Given the description of an element on the screen output the (x, y) to click on. 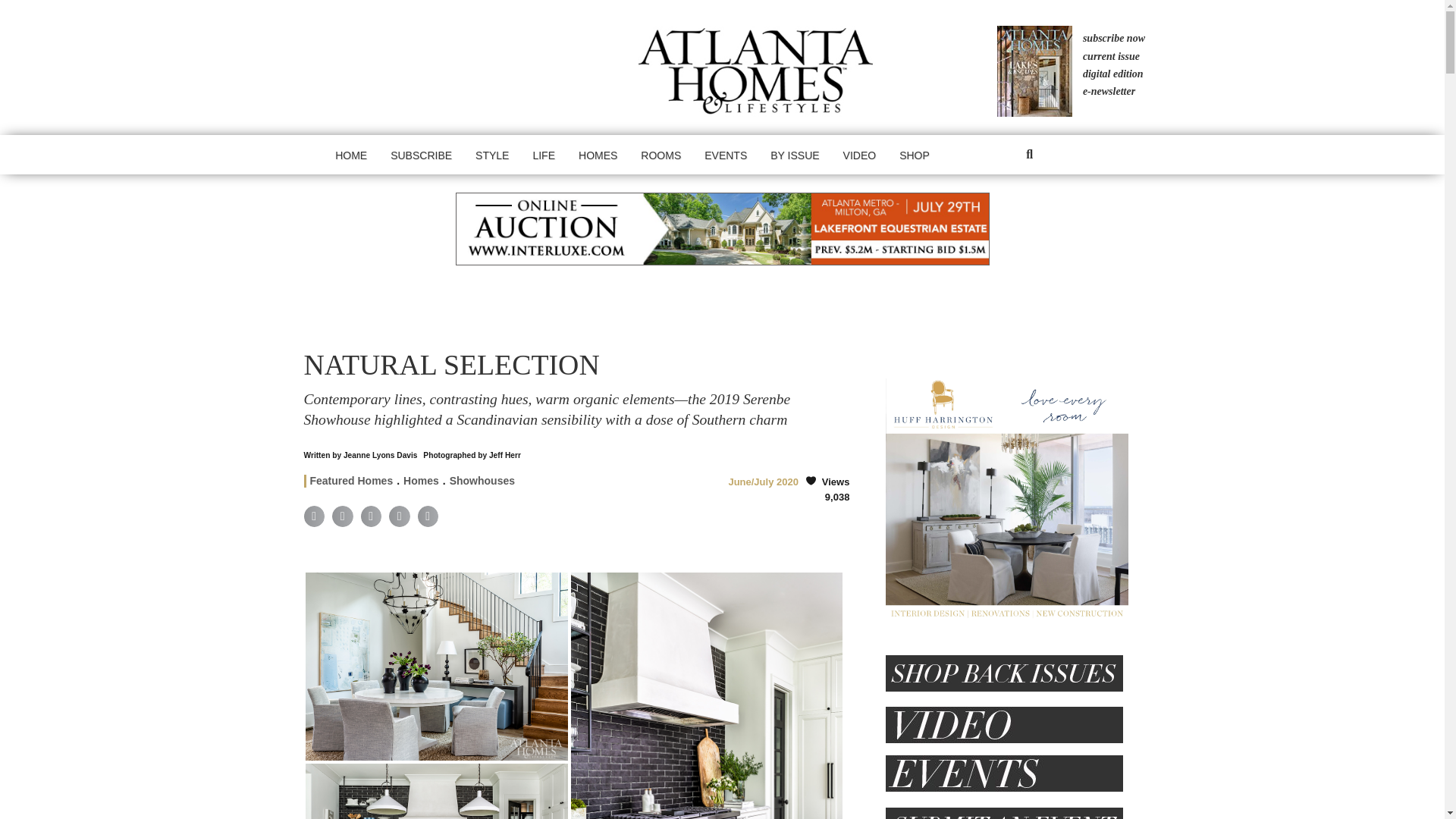
EVENTS (725, 154)
LIFE (543, 154)
subscribe now (1113, 38)
HOME (350, 154)
ROOMS (660, 154)
SUBSCRIBE (420, 154)
current issue (1110, 56)
e-newsletter (1108, 91)
logo (757, 71)
digital edition (1112, 74)
STYLE (491, 154)
HOMES (597, 154)
